Given the description of an element on the screen output the (x, y) to click on. 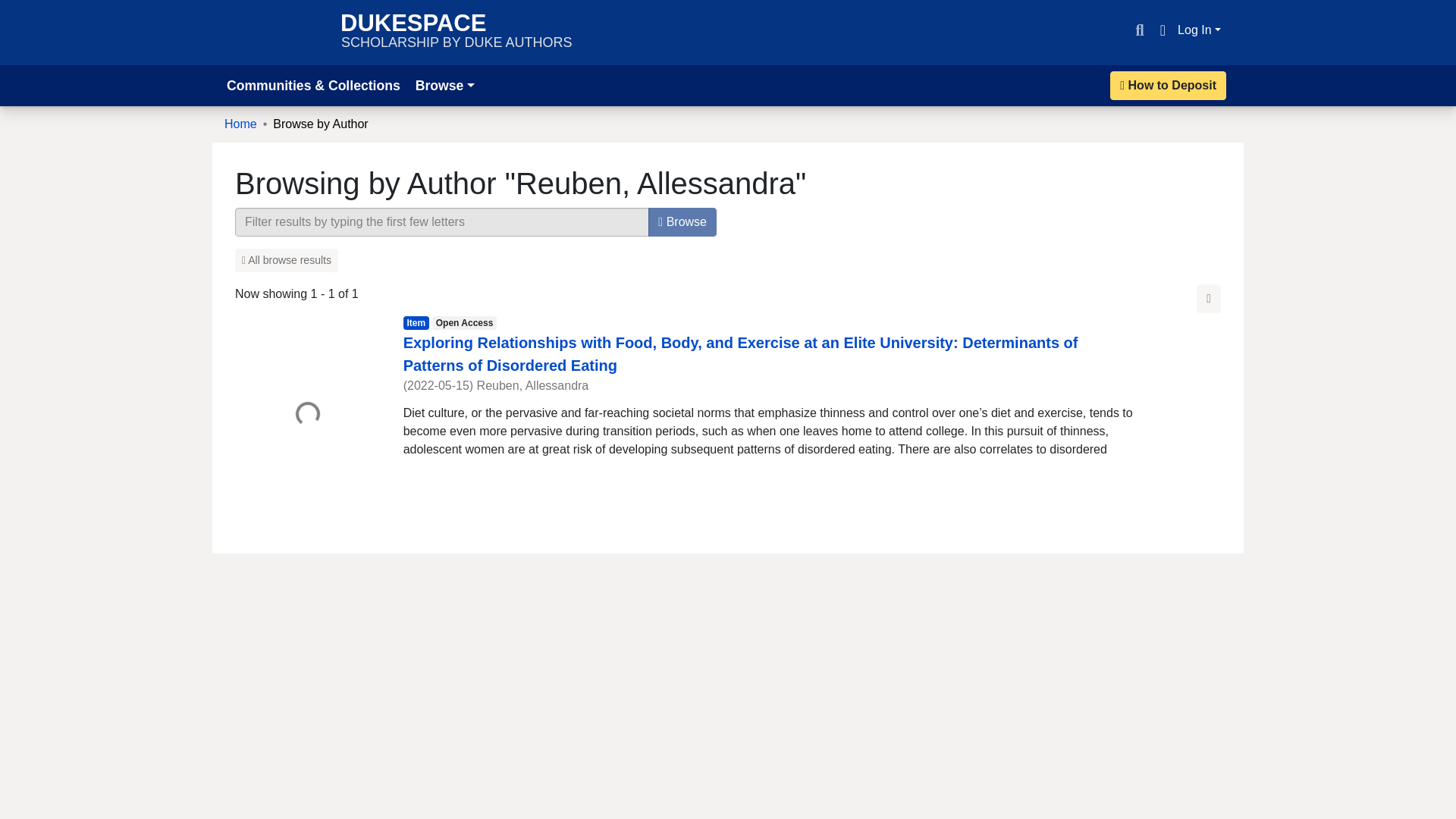
Duke University Libraries (274, 32)
Browse (681, 222)
How to Deposit (1167, 85)
Skip to Main Content (18, 9)
All browse results (285, 259)
Log In (1199, 29)
Language switch (1162, 30)
Home (240, 124)
Browse (444, 85)
Search (456, 32)
